Given the description of an element on the screen output the (x, y) to click on. 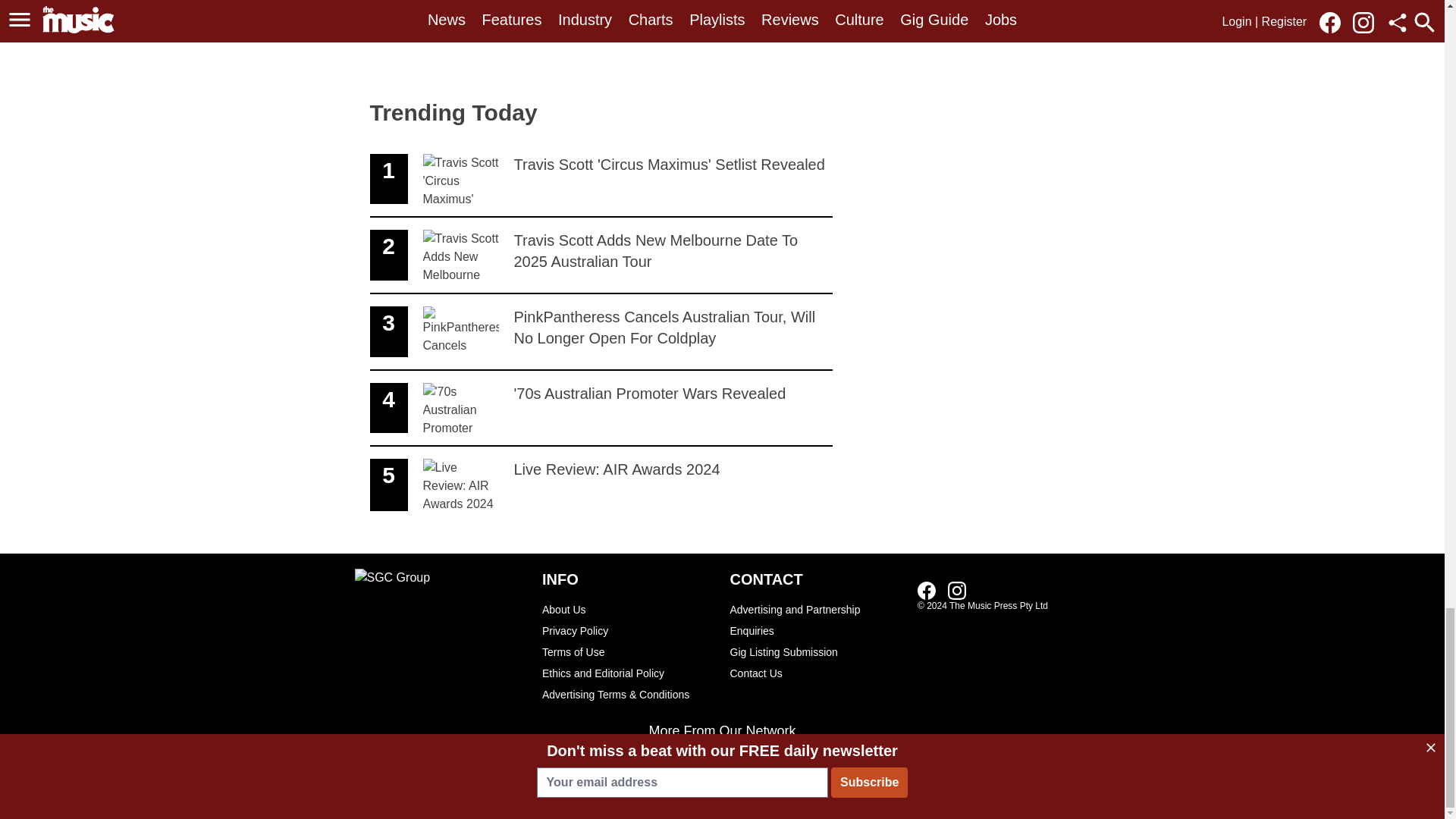
About Us (627, 608)
Privacy Policy (627, 630)
Link to our Facebook (926, 590)
Terms of Use (600, 179)
Link to our Instagram (627, 651)
